Given the description of an element on the screen output the (x, y) to click on. 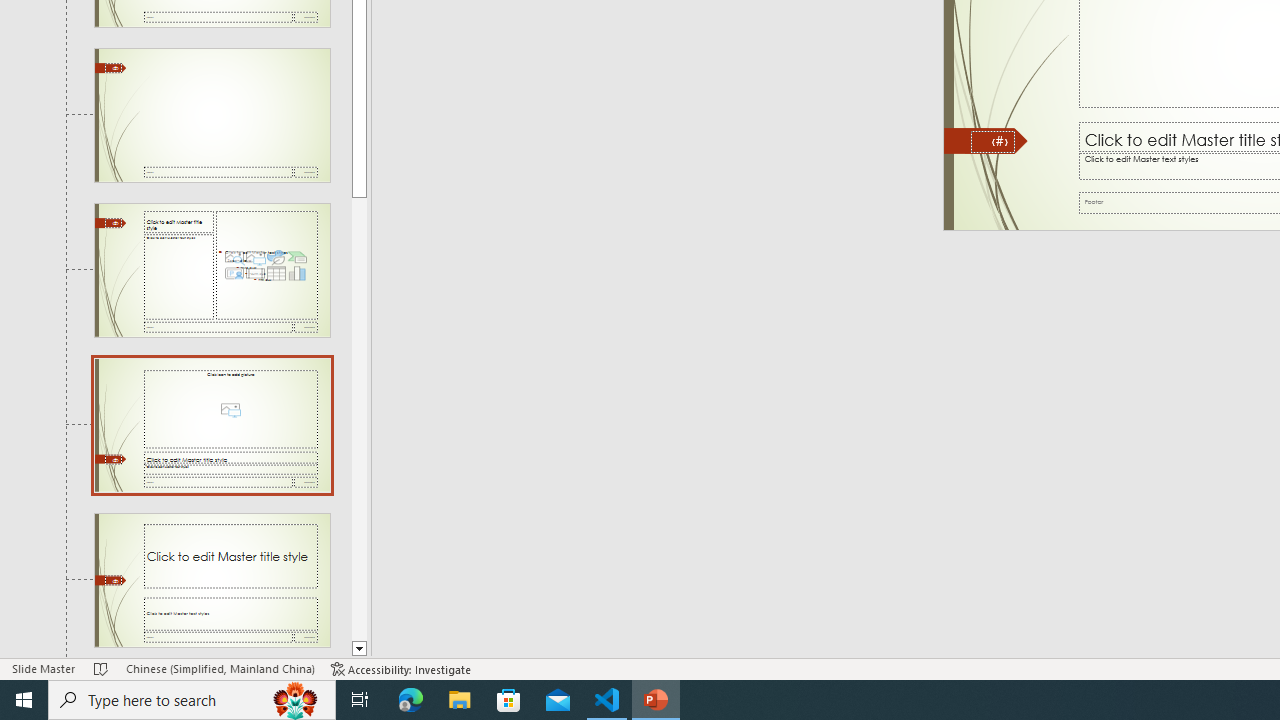
Slide Blank Layout: used by no slides (212, 115)
Slide Content with Caption Layout: used by no slides (212, 269)
Freeform 11 (985, 141)
Slide Picture with Caption Layout: used by no slides (212, 425)
Slide Title and Caption Layout: used by no slides (212, 580)
Slide Number (993, 141)
